Given the description of an element on the screen output the (x, y) to click on. 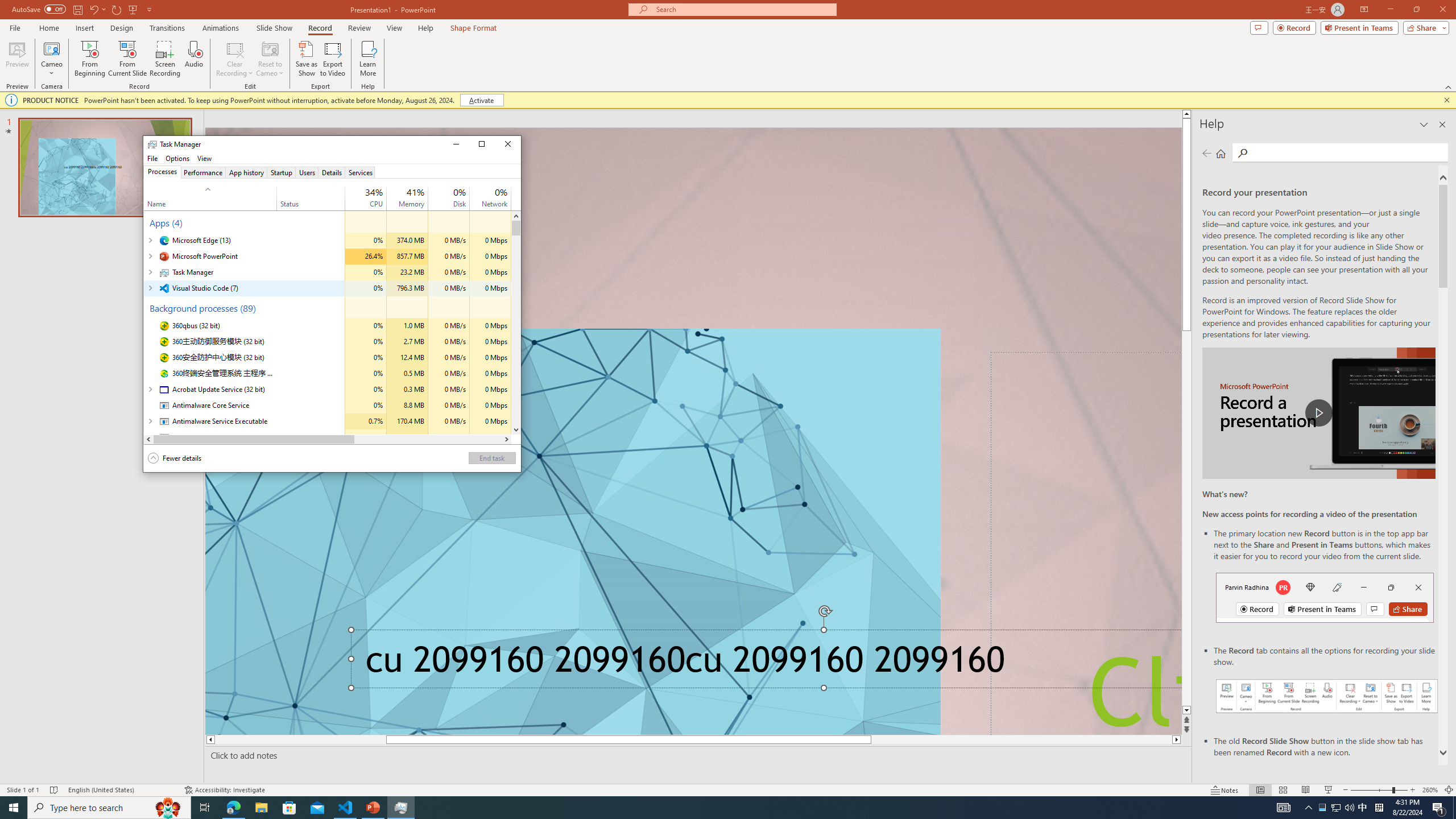
Startup (281, 171)
App history (246, 171)
25% (374, 191)
0% (500, 191)
Fewer details (175, 458)
Application (331, 158)
Options (177, 158)
Processes (162, 171)
Column left (148, 438)
Column right (506, 438)
